Given the description of an element on the screen output the (x, y) to click on. 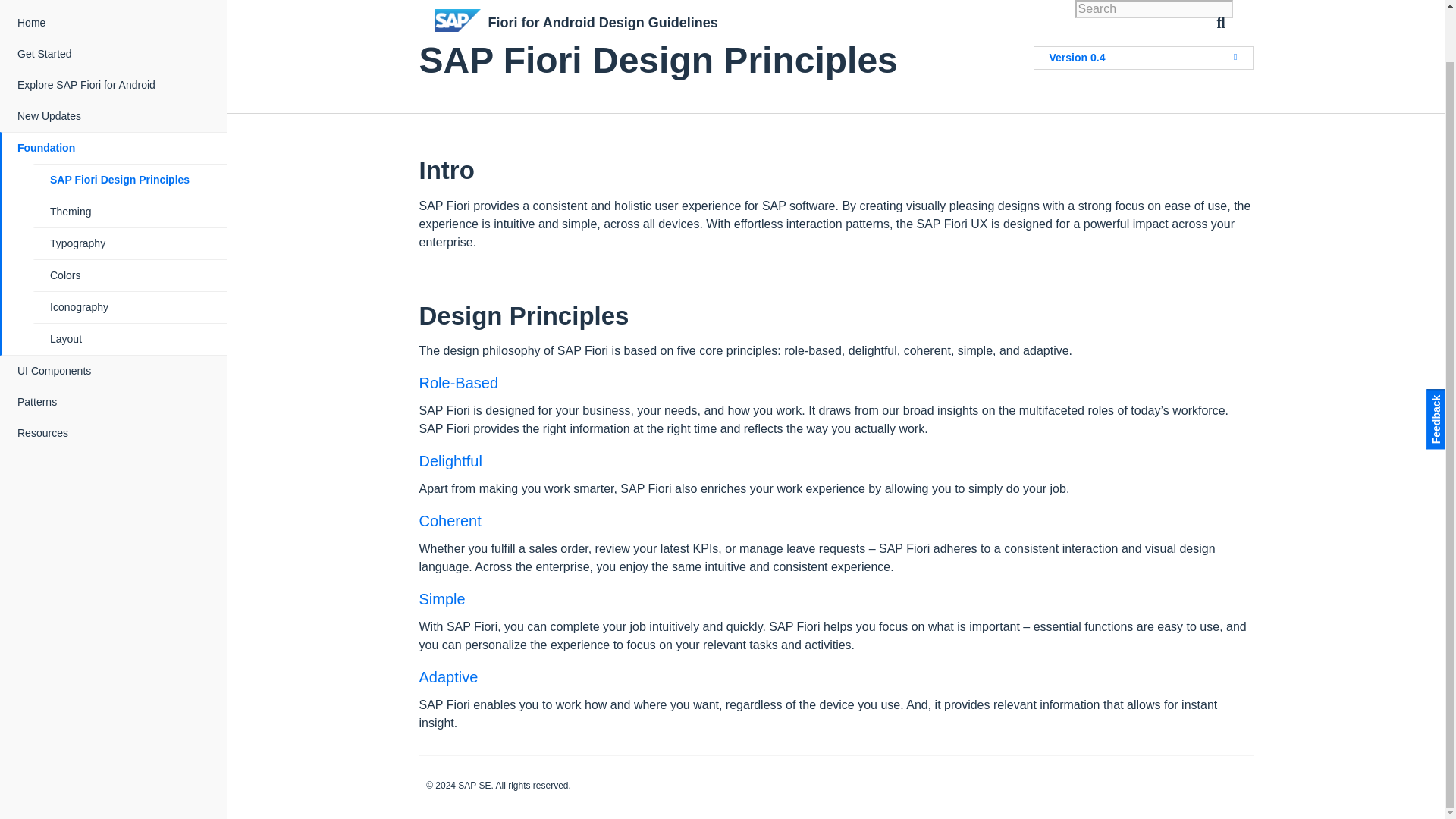
New Updates (114, 60)
Iconography (130, 250)
Theming (130, 155)
SAP Fiori Design Principles (130, 123)
UI Components (114, 314)
Typography (130, 187)
Explore SAP Fiori for Android (114, 29)
Get Started (114, 6)
Foundation (114, 91)
Colors (130, 219)
Layout (130, 282)
